Given the description of an element on the screen output the (x, y) to click on. 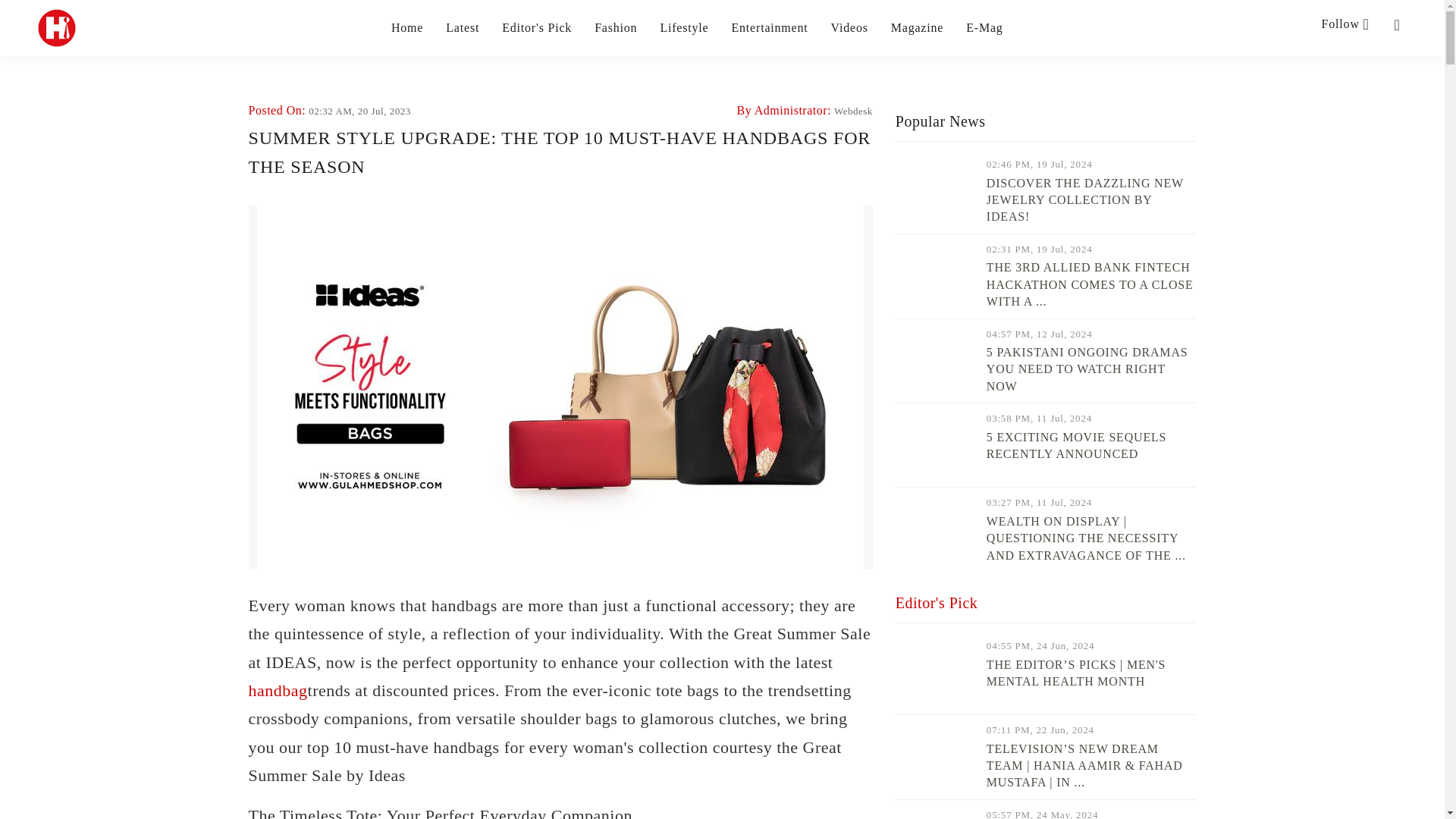
02:32 AM, 20 Jul, 2023 (359, 111)
Lifestyle (683, 27)
Editor'S Pick (537, 27)
Webdesk (853, 111)
Discover the Dazzling New Jewelry Collection by Ideas! (935, 191)
Latest (462, 27)
Magazine (917, 27)
Home (407, 27)
Entertainment (769, 27)
handbag (277, 690)
5 Pakistani Ongoing Dramas You Need to Watch Right Now (935, 360)
5 Exciting Movie Sequels Recently Announced (935, 445)
E-Mag (984, 27)
Fashion (615, 27)
